Given the description of an element on the screen output the (x, y) to click on. 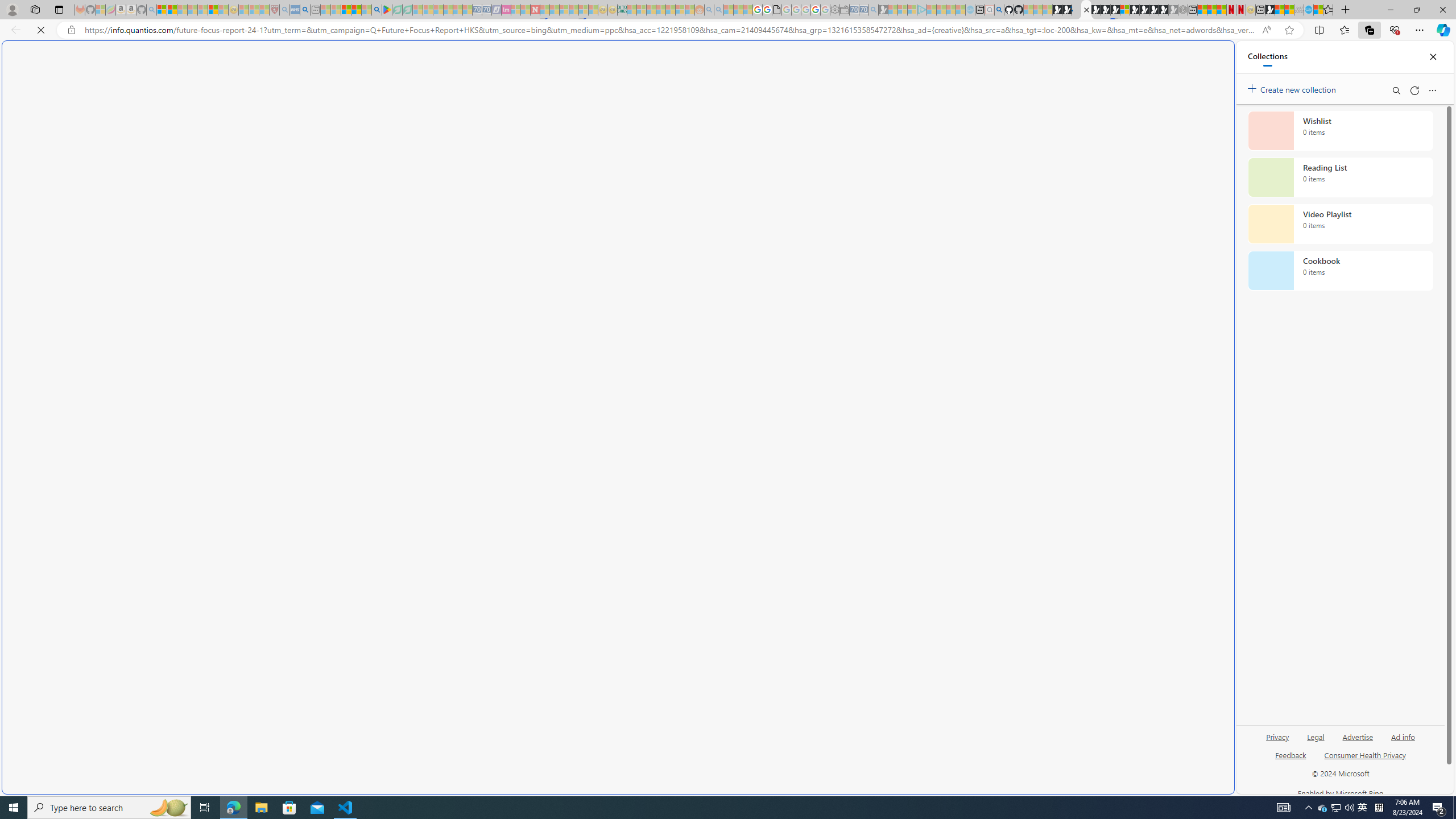
Bluey: Let's Play! - Apps on Google Play (387, 9)
Create new collection (1293, 87)
